Given the description of an element on the screen output the (x, y) to click on. 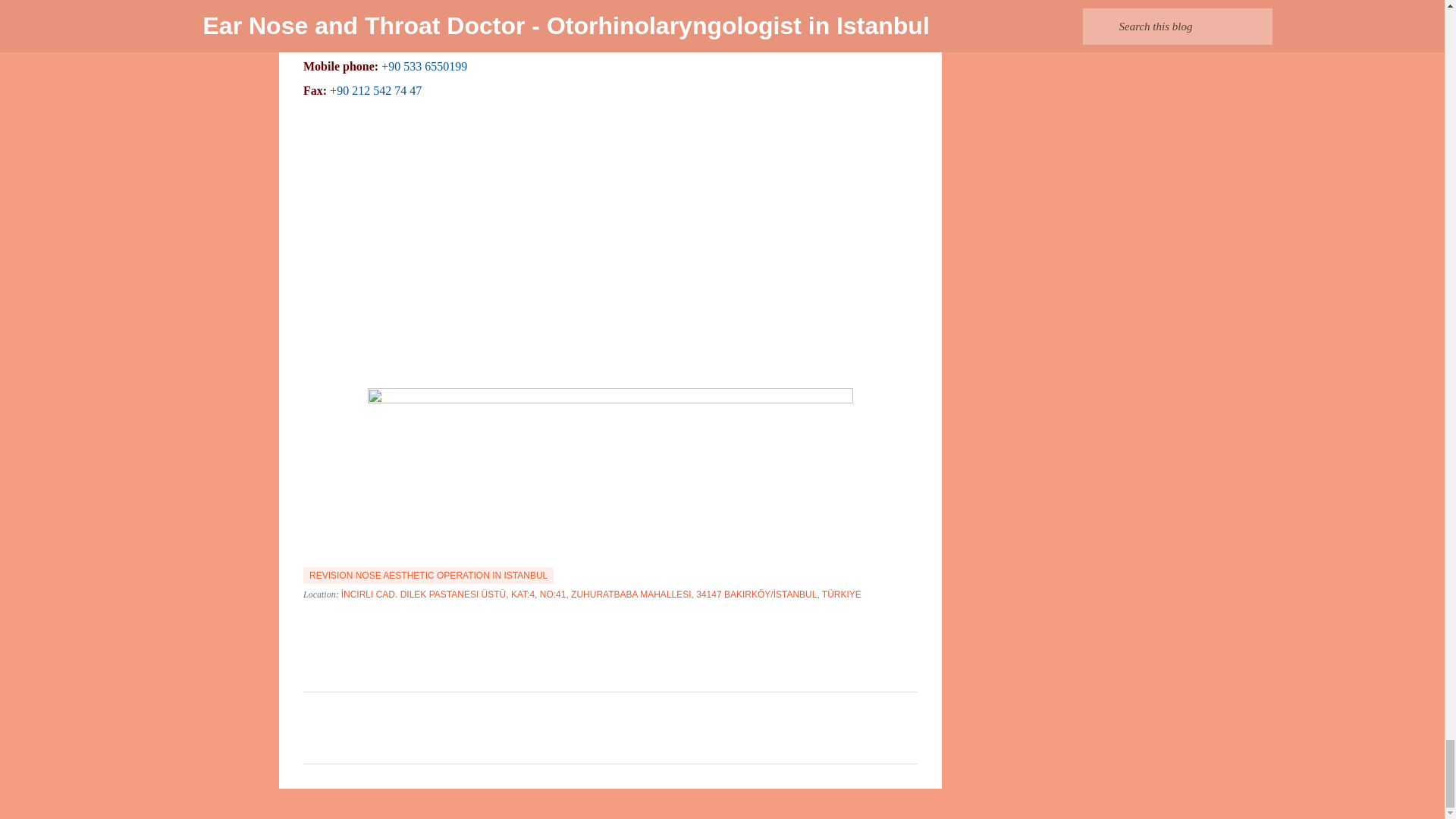
REVISION NOSE AESTHETIC OPERATION IN ISTANBUL (427, 575)
